Given the description of an element on the screen output the (x, y) to click on. 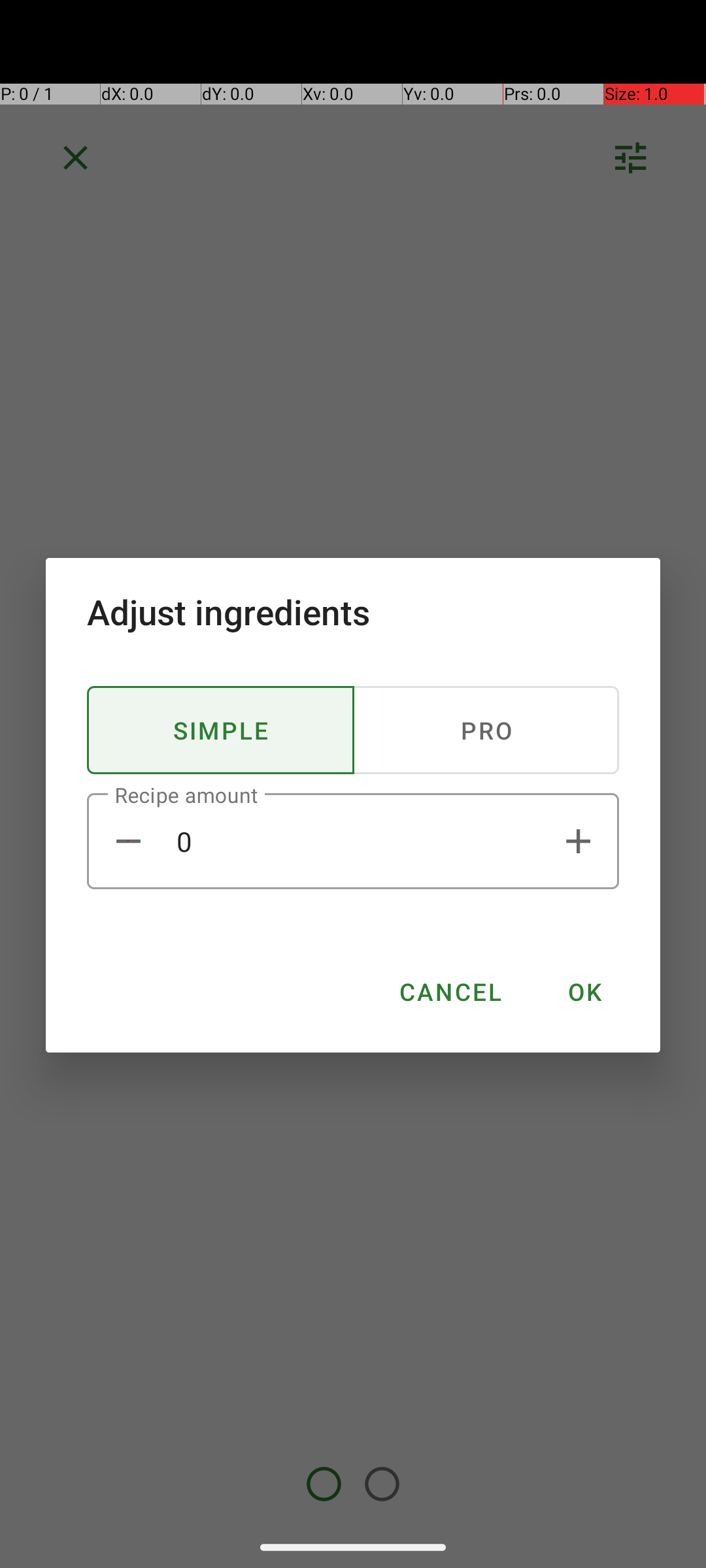
Adjust ingredients Element type: android.widget.TextView (352, 611)
SIMPLE Element type: android.widget.CompoundButton (220, 730)
PRO Element type: android.widget.CompoundButton (485, 730)
